Given the description of an element on the screen output the (x, y) to click on. 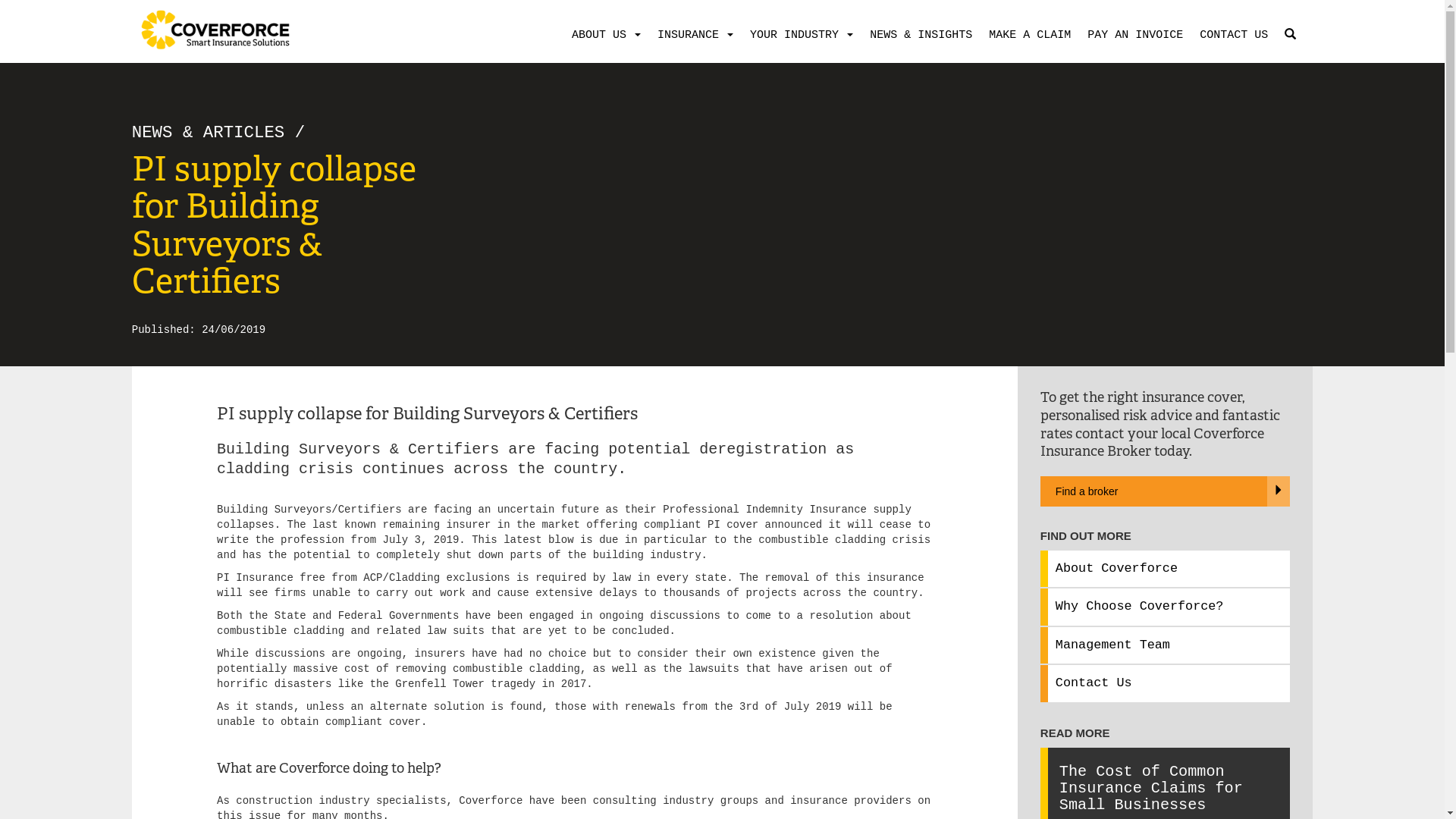
About Coverforce Element type: text (1116, 568)
INSURANCE  Element type: text (692, 35)
CONTACT US Element type: text (1230, 35)
ABOUT US  Element type: text (603, 35)
PAY AN INVOICE Element type: text (1132, 35)
Why Choose Coverforce? Element type: text (1139, 606)
MAKE A CLAIM Element type: text (1026, 35)
YOUR INDUSTRY  Element type: text (798, 35)
Management Team Element type: text (1112, 644)
NEWS & INSIGHTS Element type: text (917, 35)
Find a broker Element type: text (1164, 498)
Contact Us Element type: text (1093, 682)
